Given the description of an element on the screen output the (x, y) to click on. 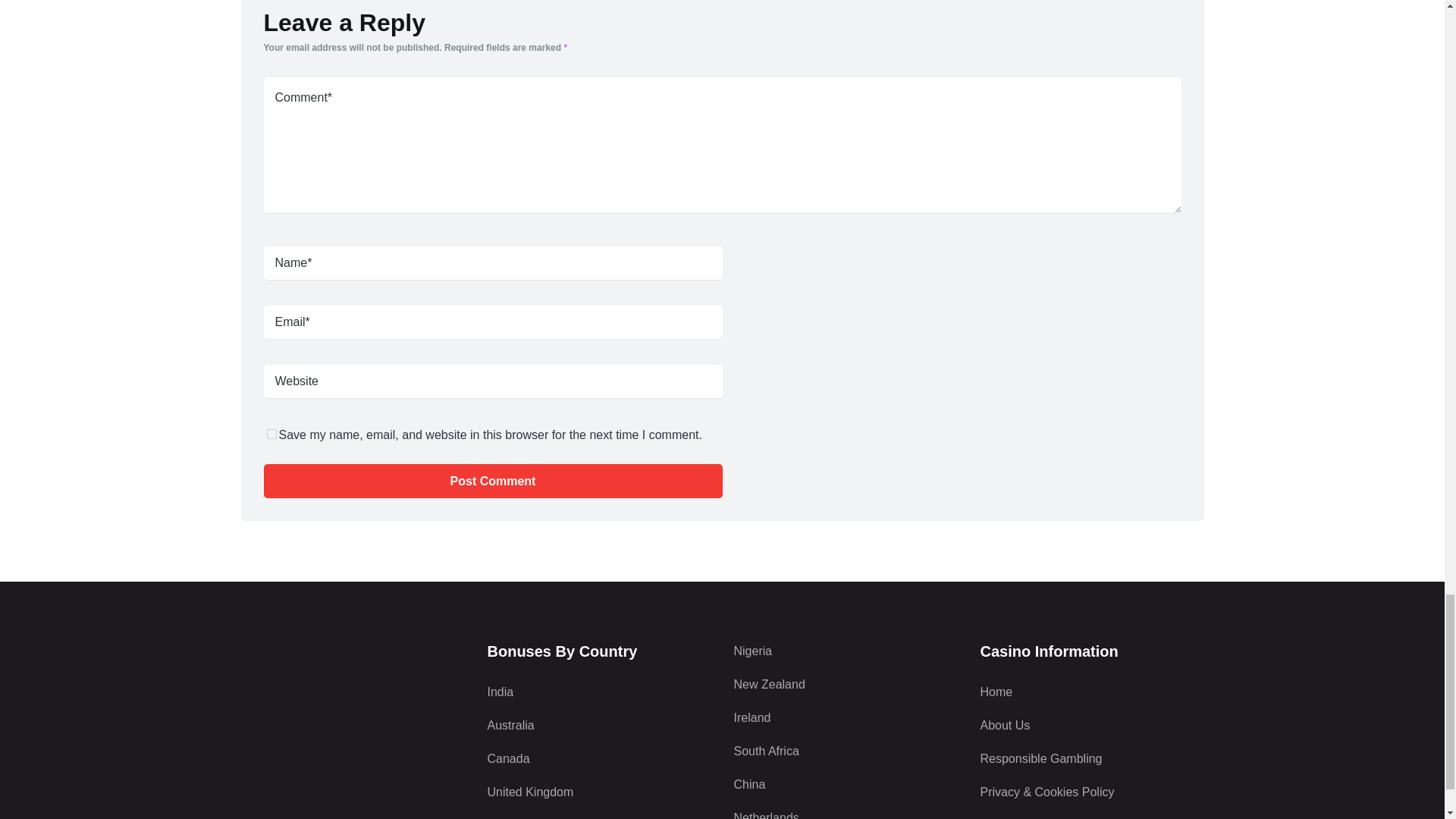
Canada (598, 759)
Post Comment (492, 480)
Australia (598, 725)
Nigeria (845, 651)
Netherlands (845, 814)
India (598, 692)
South Africa (845, 751)
Ireland (845, 718)
Home (1091, 692)
China (845, 784)
Post Comment (492, 480)
United Kingdom (598, 791)
New Zealand (845, 684)
cropped-No-Deposit-Icon4-01white (352, 698)
